Given the description of an element on the screen output the (x, y) to click on. 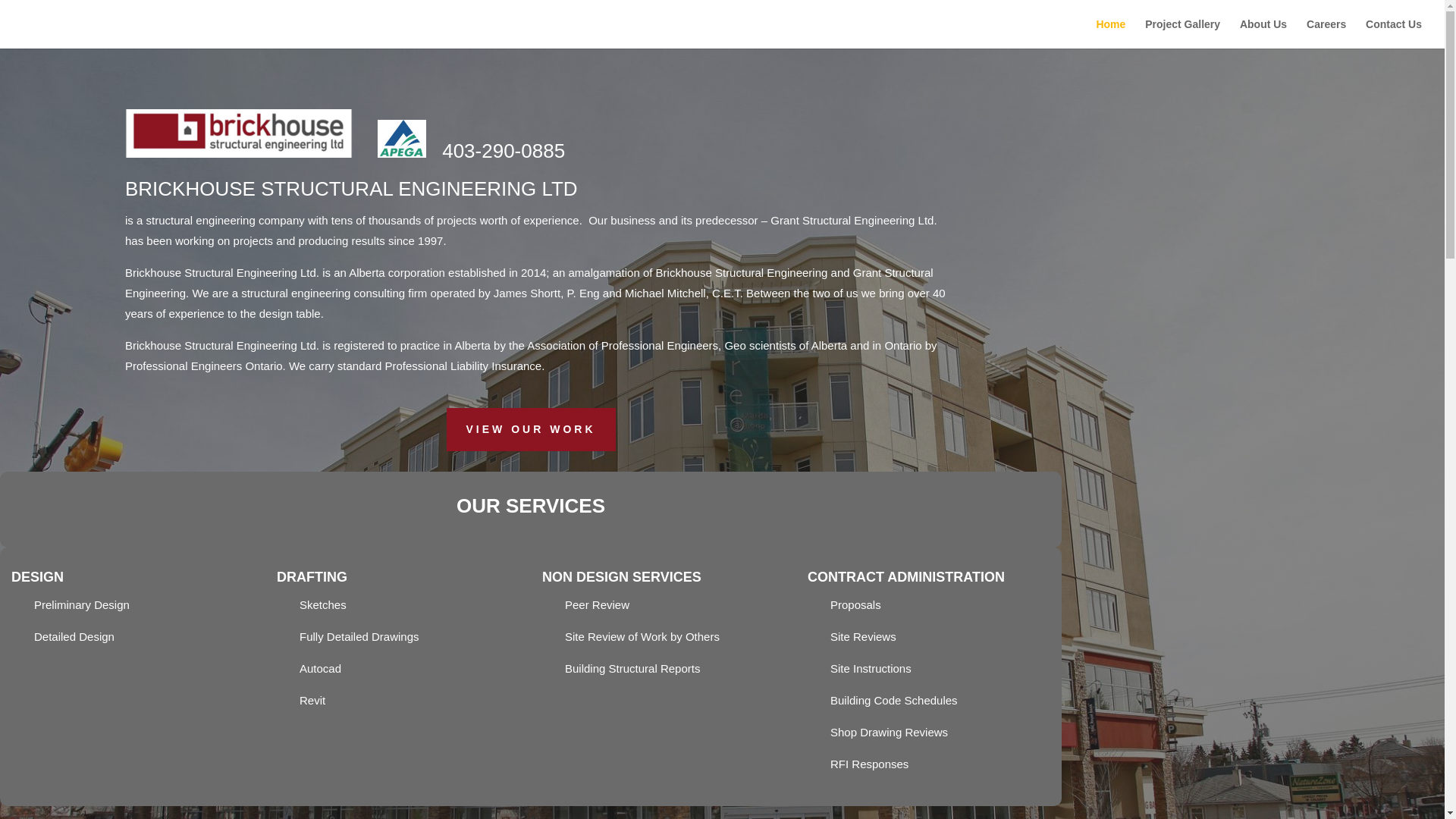
VIEW OUR WORK (529, 428)
Careers (1325, 33)
Home (1110, 33)
Contact Us (1393, 33)
About Us (1263, 33)
Project Gallery (1182, 33)
